Given the description of an element on the screen output the (x, y) to click on. 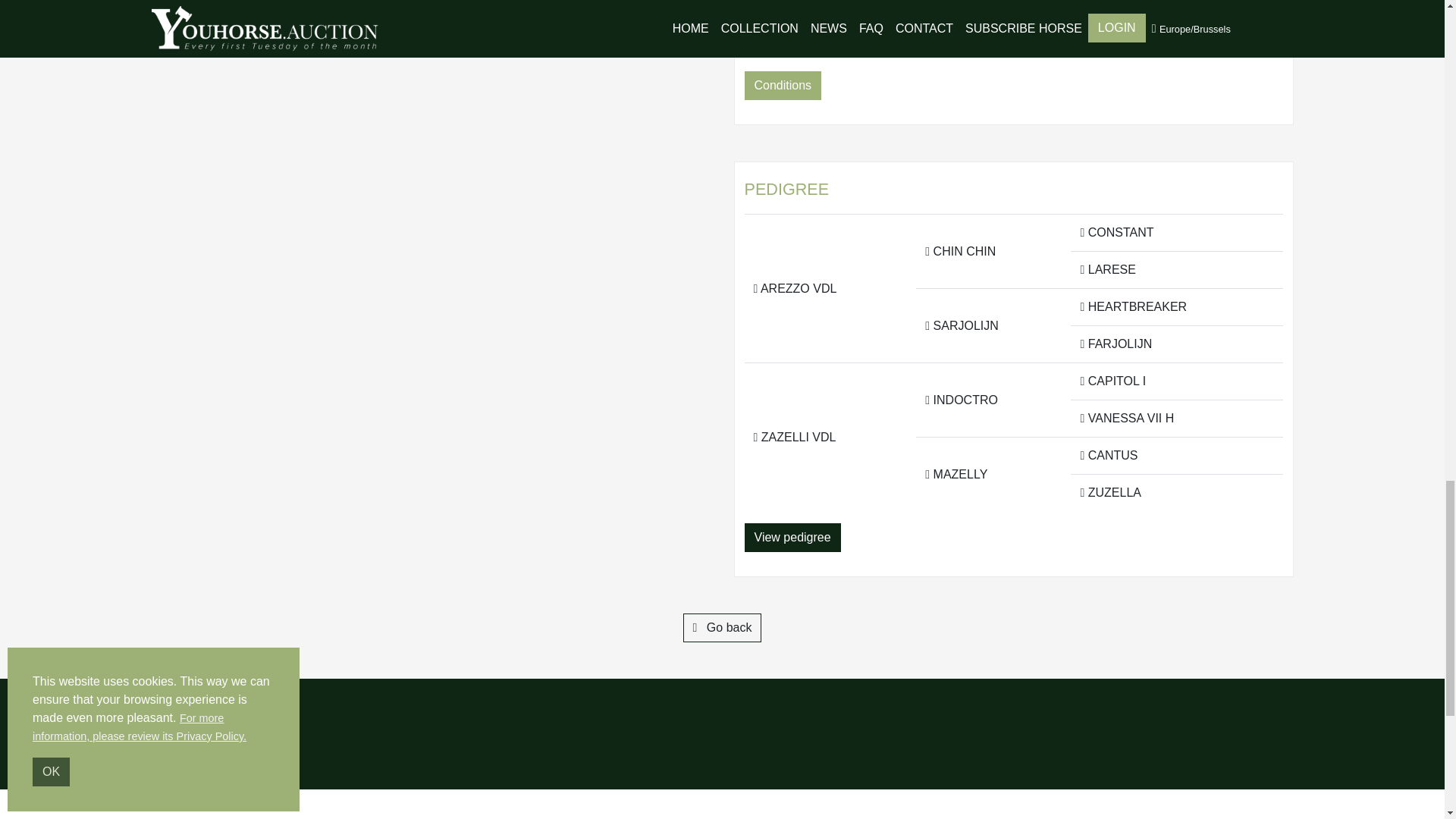
Go back (721, 627)
View pedigree (792, 537)
Conditions (783, 85)
